Given the description of an element on the screen output the (x, y) to click on. 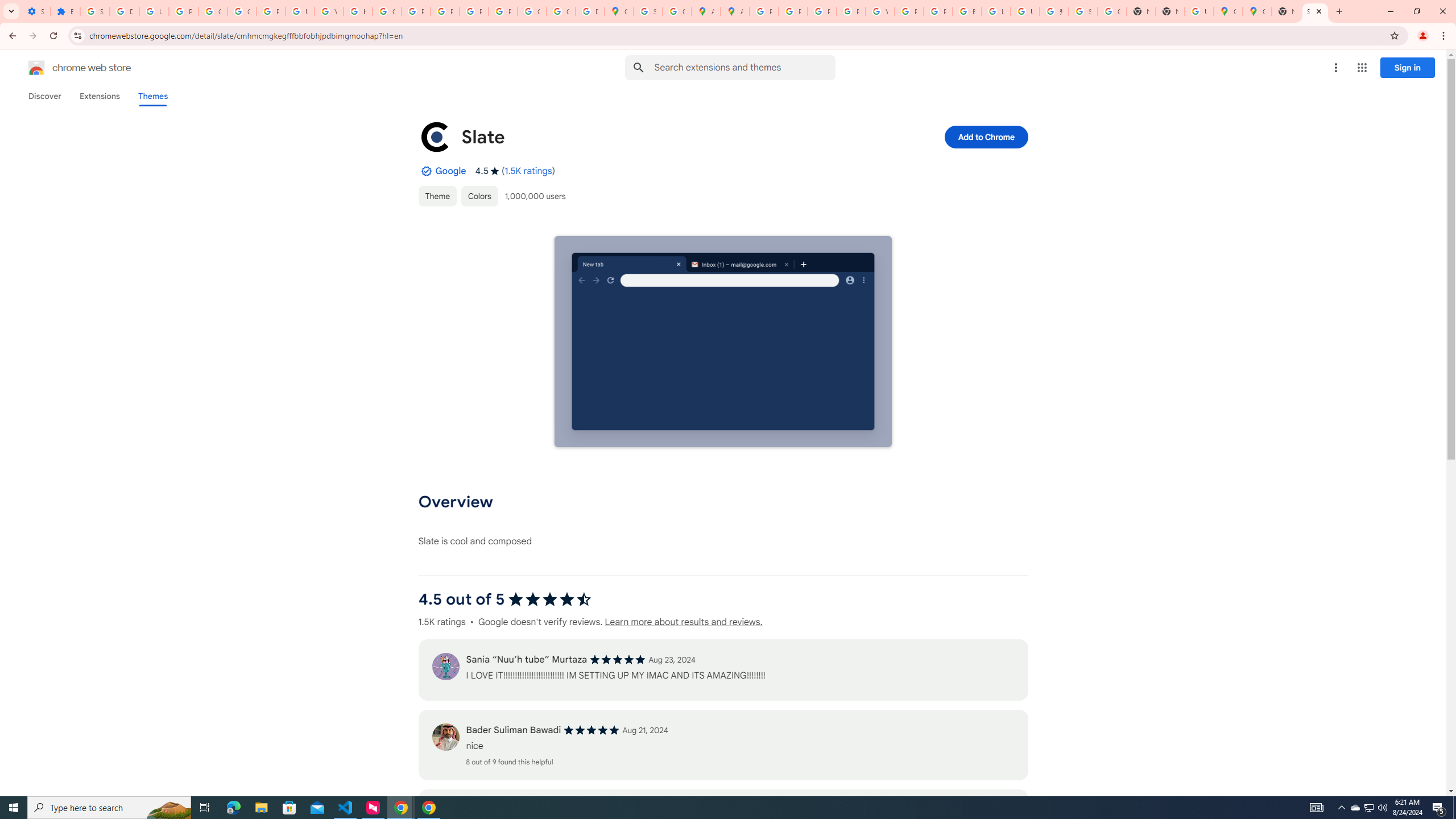
Learn more about results and reviews. (683, 622)
Discover (43, 95)
Chrome Web Store logo (36, 67)
Privacy Help Center - Policies Help (792, 11)
Search input (744, 67)
Extensions (99, 95)
Use Google Maps in Space - Google Maps Help (1198, 11)
By Established Publisher Badge (425, 170)
